Given the description of an element on the screen output the (x, y) to click on. 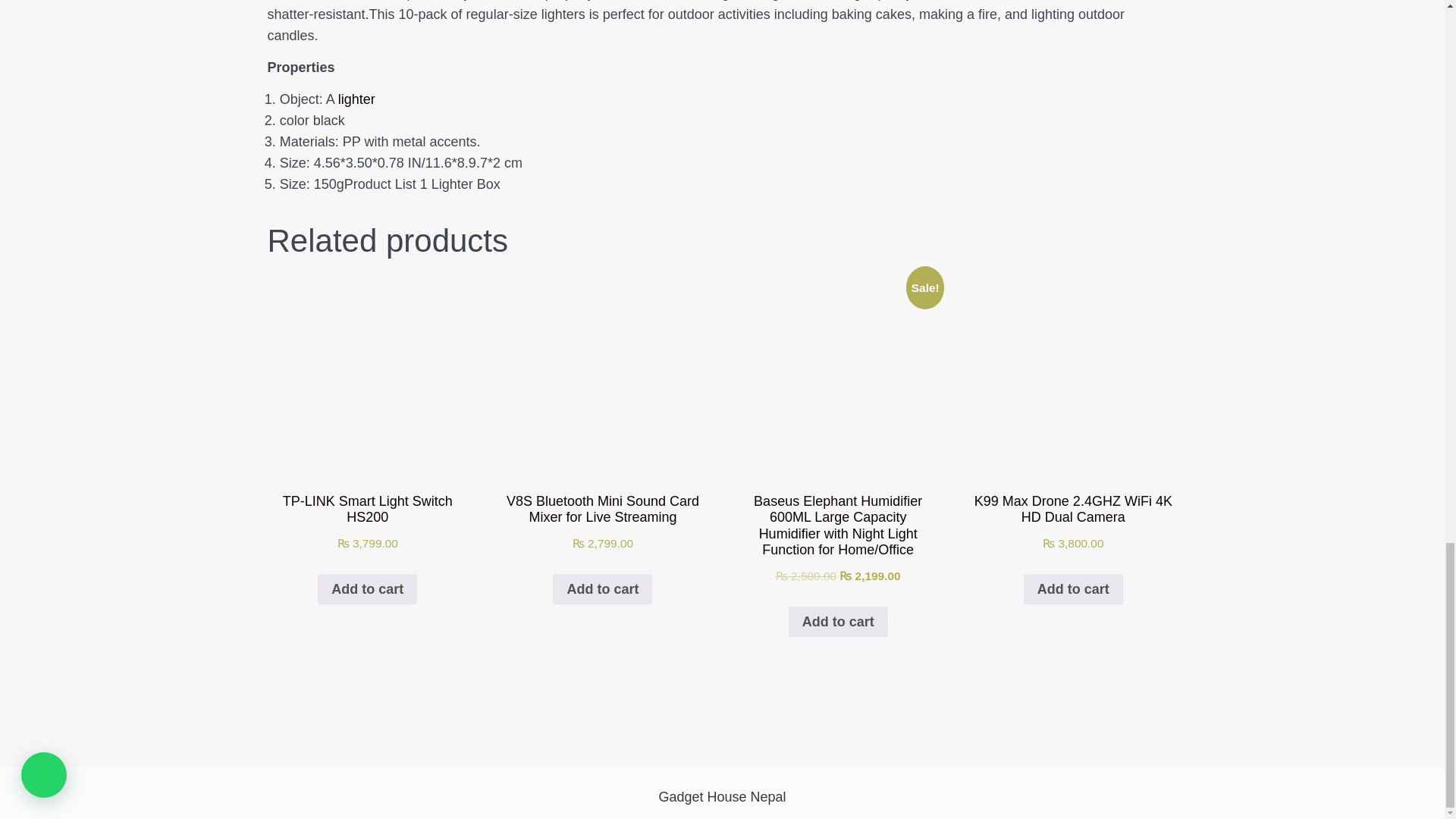
Add to cart (602, 589)
Add to cart (366, 589)
lighter (356, 99)
